Given the description of an element on the screen output the (x, y) to click on. 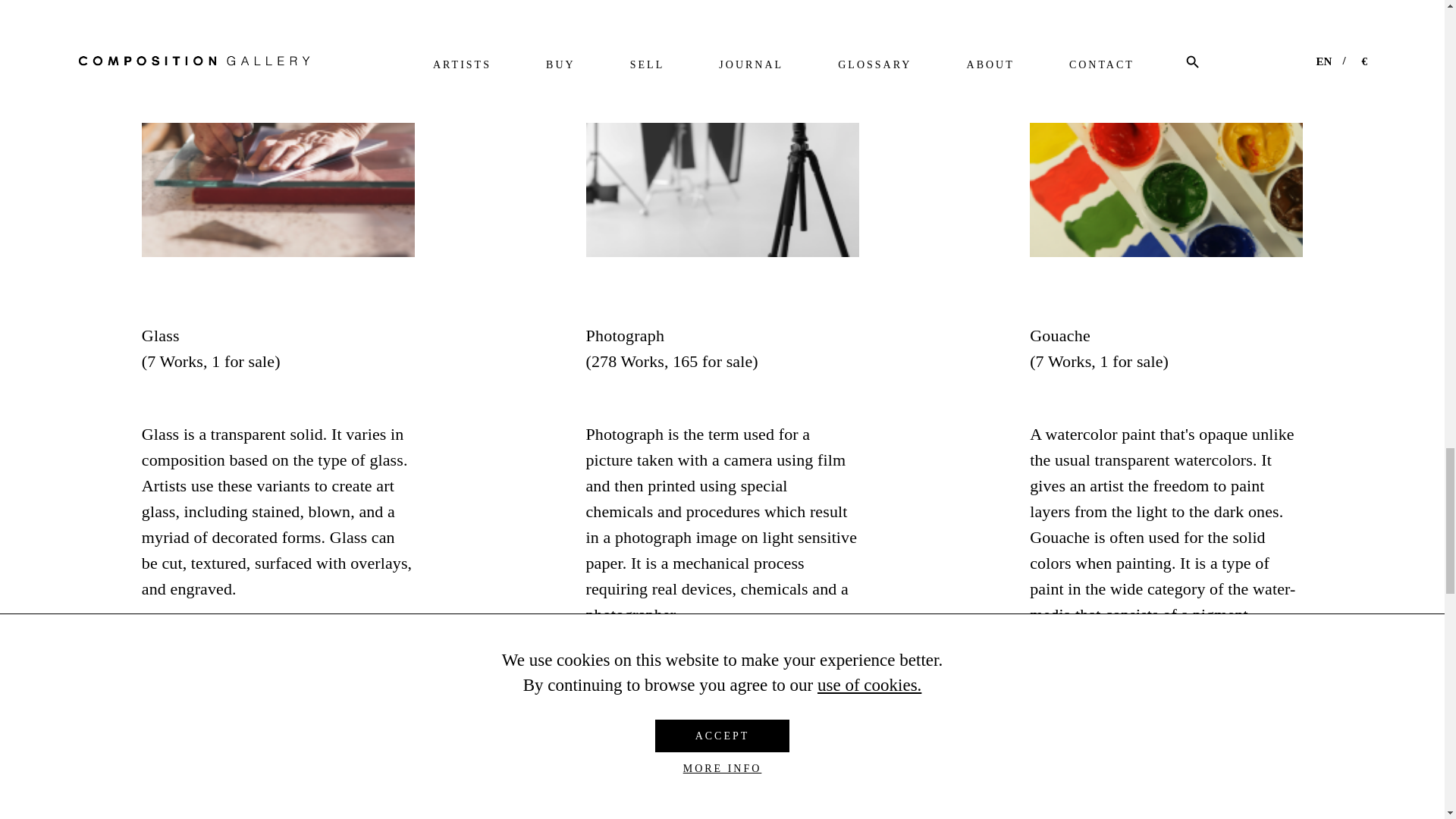
Photograph (722, 128)
Glass (277, 128)
Gouache (1166, 128)
